Given the description of an element on the screen output the (x, y) to click on. 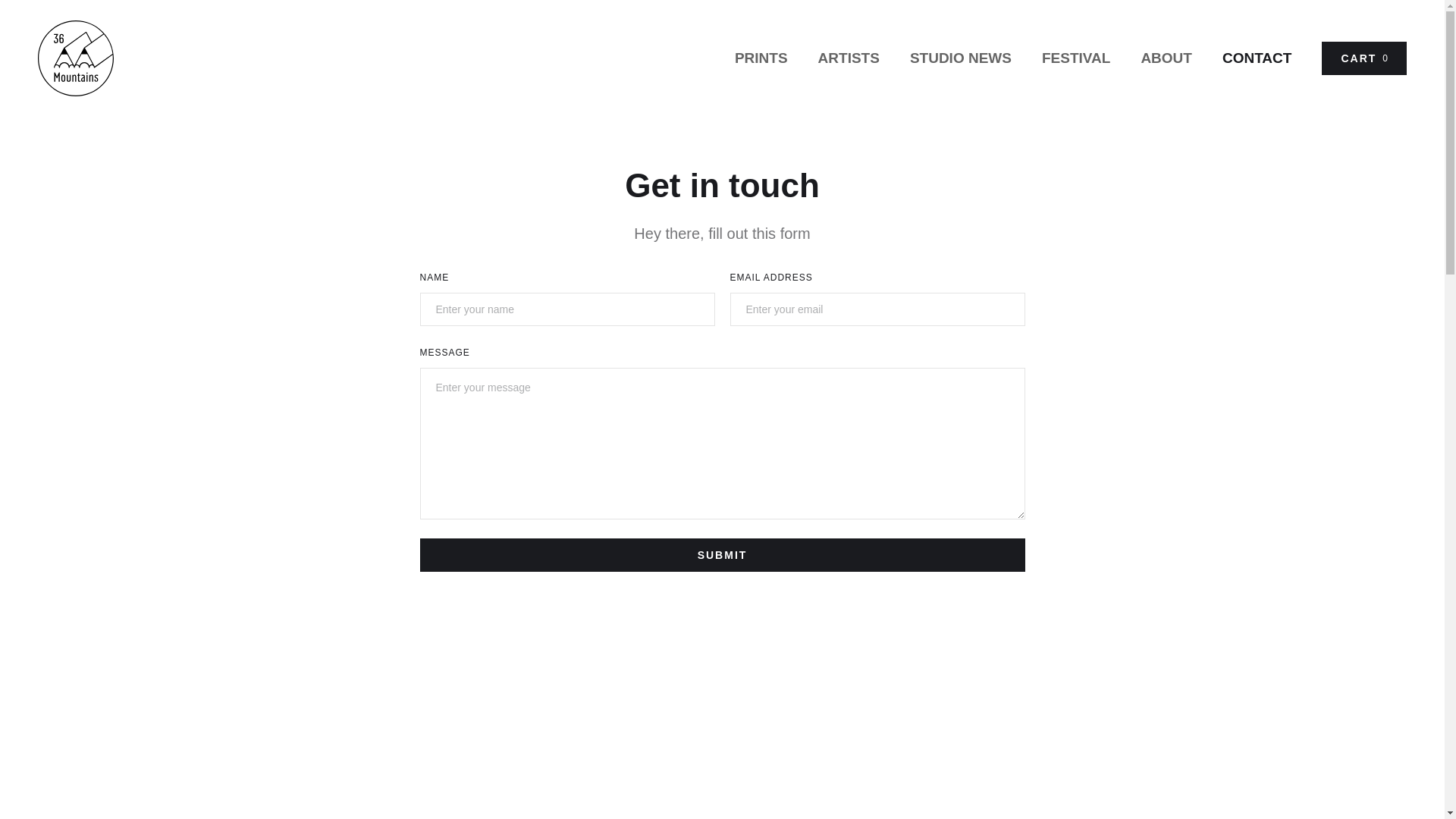
CONTACT Element type: text (1256, 57)
CART
0 Element type: text (1363, 58)
STUDIO NEWS Element type: text (960, 57)
PRINTS Element type: text (761, 57)
ABOUT Element type: text (1166, 57)
FESTIVAL Element type: text (1075, 57)
Submit Element type: text (722, 554)
ARTISTS Element type: text (848, 57)
